Given the description of an element on the screen output the (x, y) to click on. 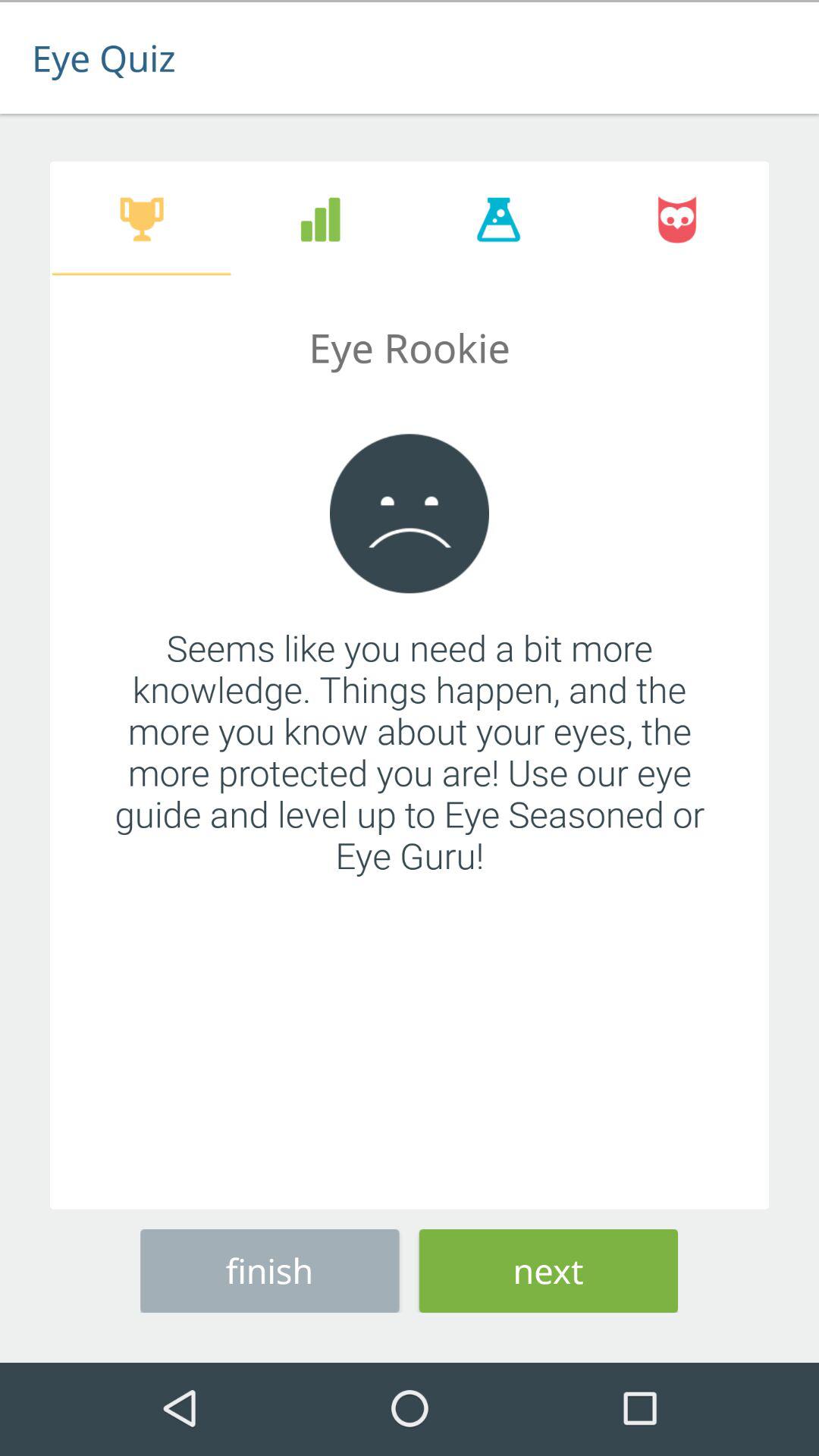
press the icon to the right of the finish button (548, 1268)
